Given the description of an element on the screen output the (x, y) to click on. 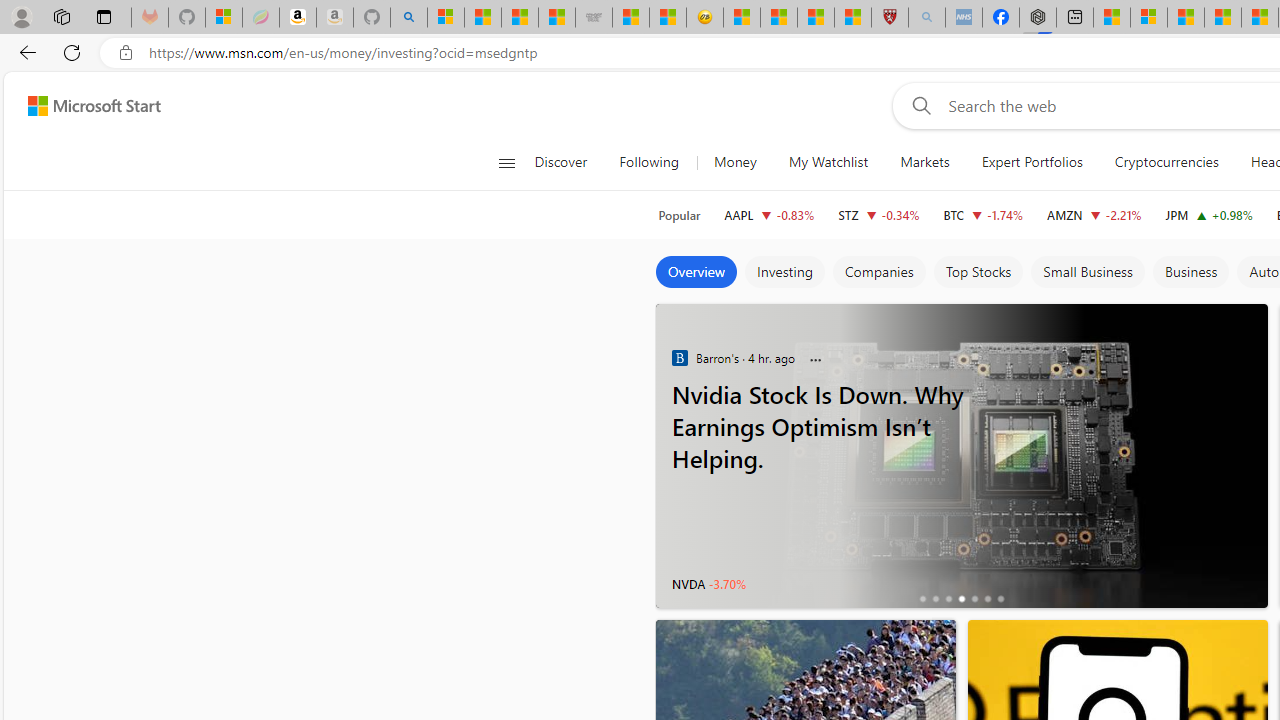
Microsoft Start (94, 105)
My Watchlist (828, 162)
Skip to footer (82, 105)
Open navigation menu (506, 162)
Following (648, 162)
Popular (679, 215)
JPM JPMORGAN CHASE & CO. increase 216.71 +2.11 +0.98% (1208, 214)
Investing (784, 272)
Back (24, 52)
